Given the description of an element on the screen output the (x, y) to click on. 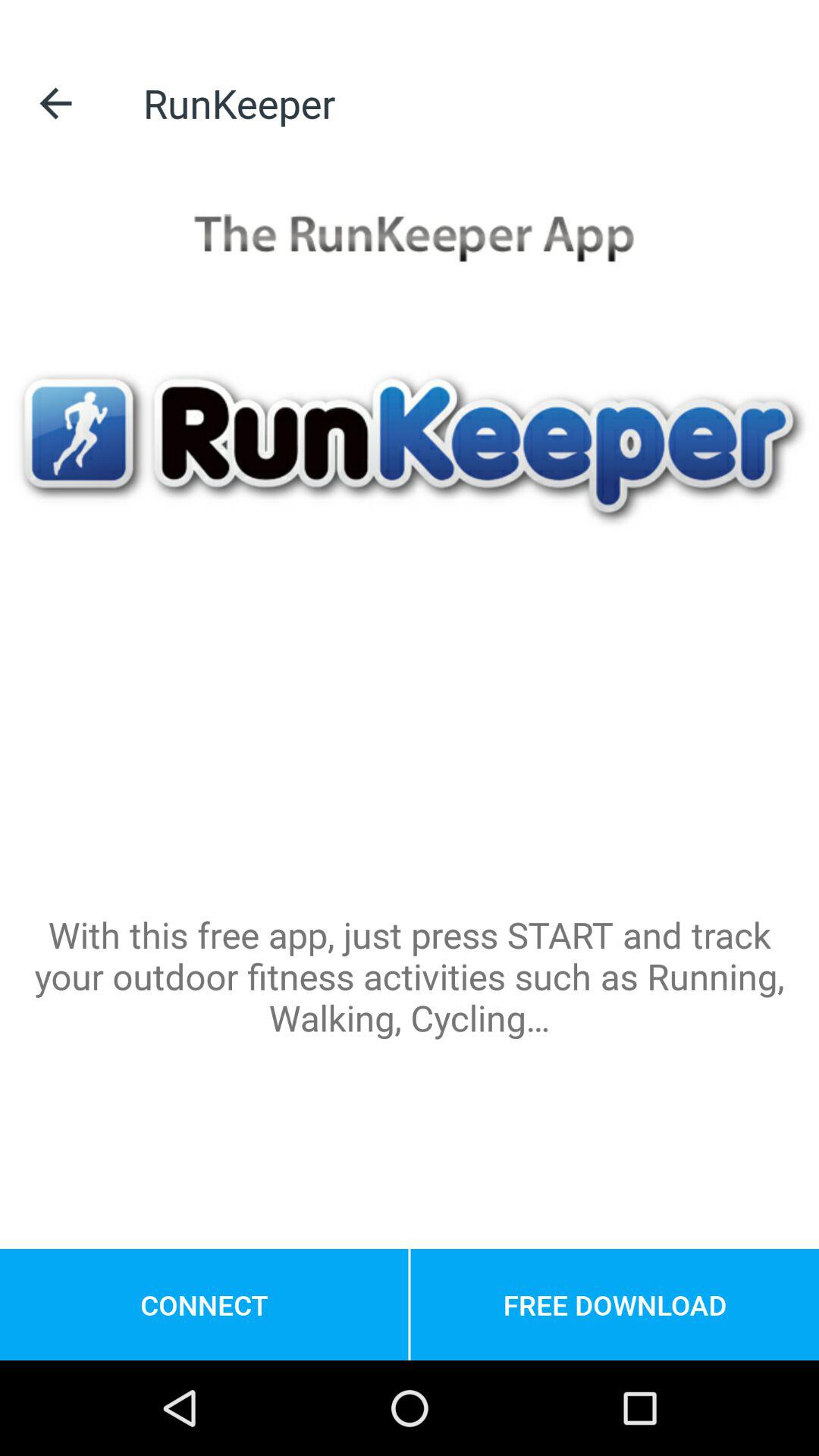
turn on the connect item (204, 1304)
